Given the description of an element on the screen output the (x, y) to click on. 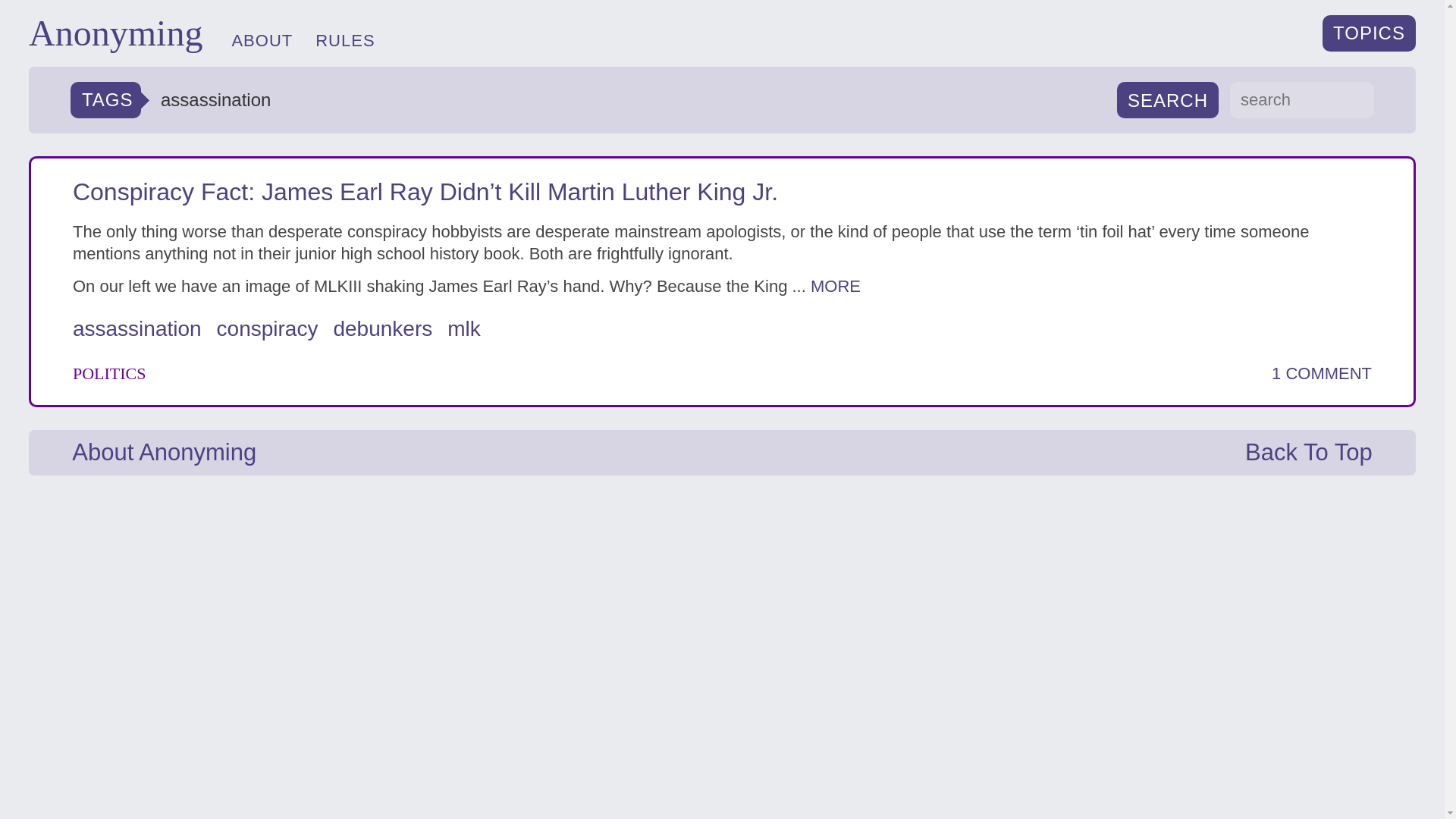
ABOUT (261, 40)
SEARCH (1167, 99)
Anonyming (115, 33)
RULES (344, 40)
